Given the description of an element on the screen output the (x, y) to click on. 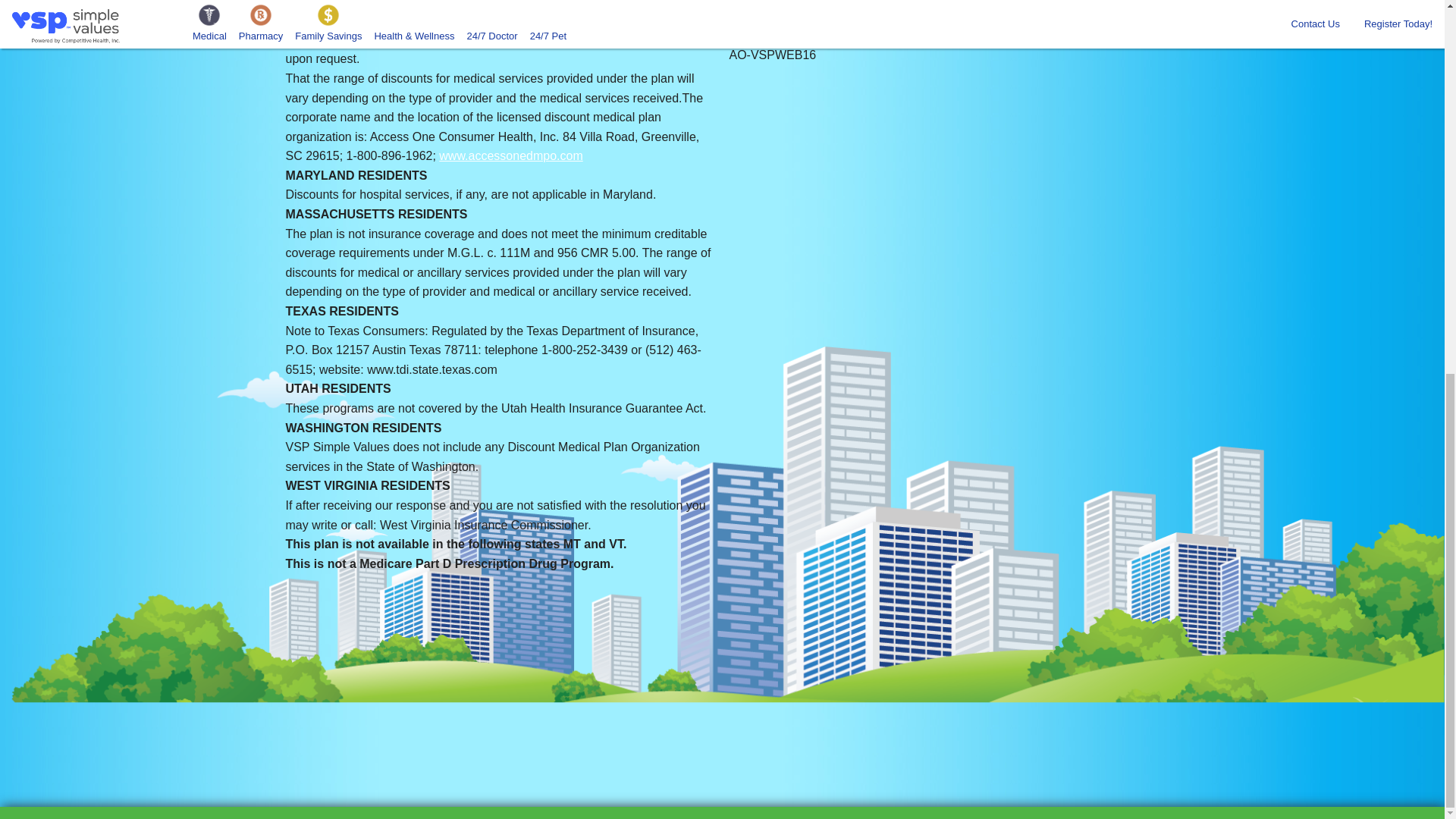
www.accessonedmpo.com (800, 3)
Privacy Policy (770, 34)
www.accessonedmpo.com (510, 155)
